Given the description of an element on the screen output the (x, y) to click on. 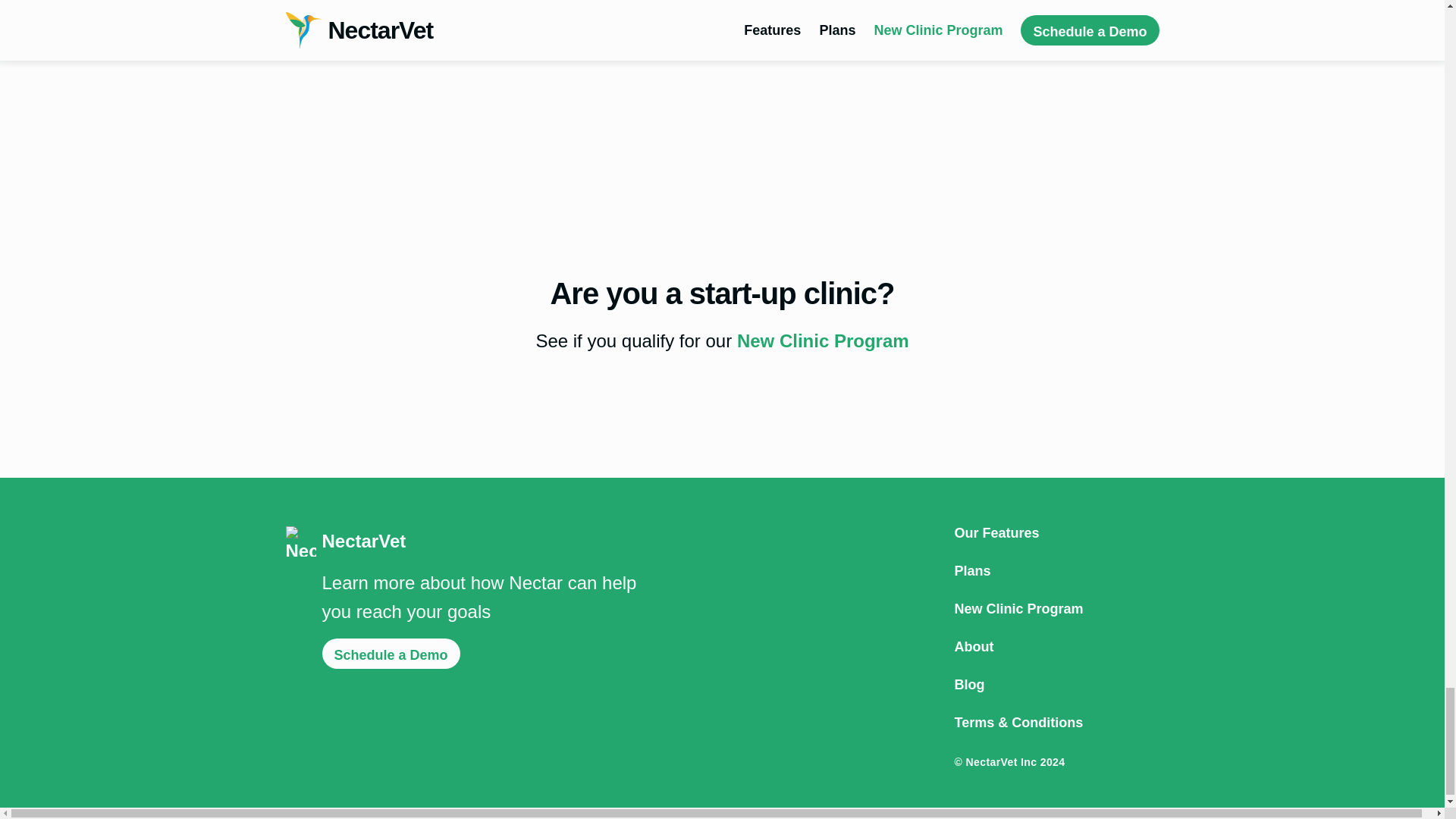
New Clinic Program (822, 340)
Plans (1055, 571)
Schedule a Demo (390, 653)
About (1055, 646)
Our Features (1055, 532)
Schedule a demo (365, 14)
NectarVet (462, 541)
Blog (1055, 684)
New Clinic Program (1055, 608)
NectarVet (462, 541)
